Given the description of an element on the screen output the (x, y) to click on. 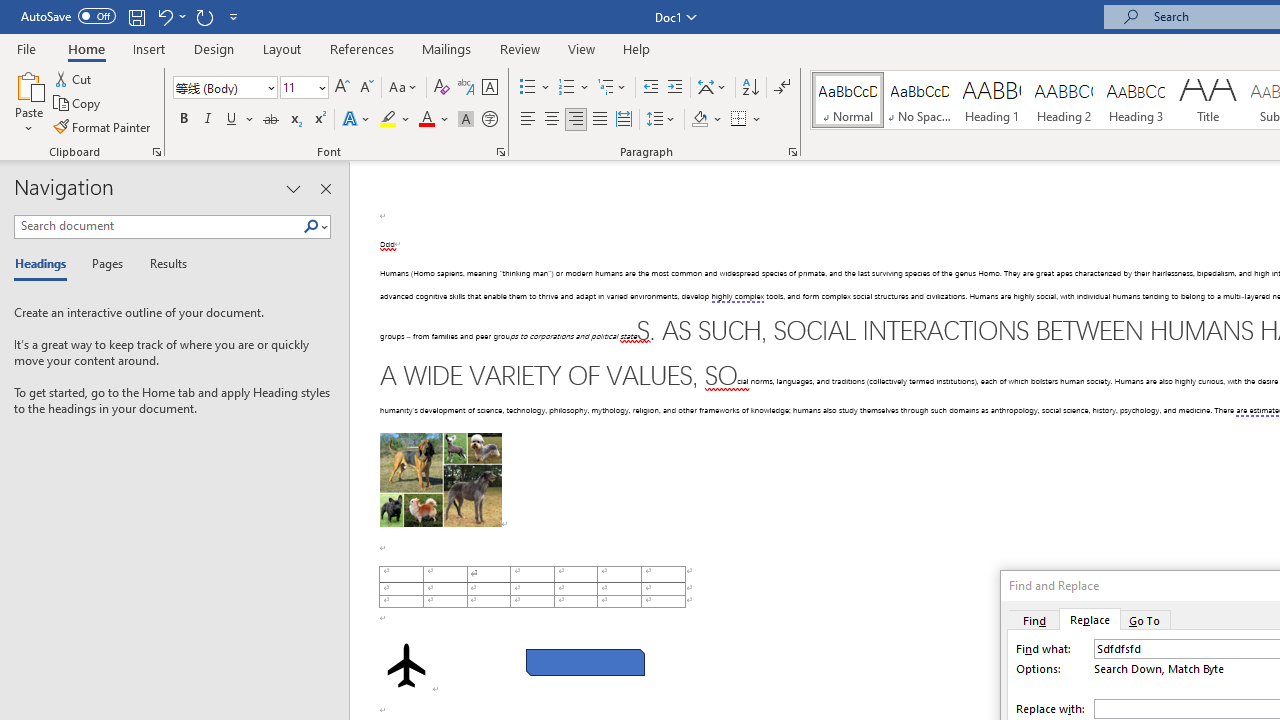
Undo Paragraph Alignment (164, 15)
Design (214, 48)
Undo Paragraph Alignment (170, 15)
Multilevel List (613, 87)
Sort... (750, 87)
File Tab (26, 48)
Font Size (304, 87)
Grow Font (342, 87)
Font (224, 87)
Close pane (325, 188)
Customize Quick Access Toolbar (234, 15)
Cut (73, 78)
Text Highlight Color (395, 119)
Character Border (489, 87)
